Given the description of an element on the screen output the (x, y) to click on. 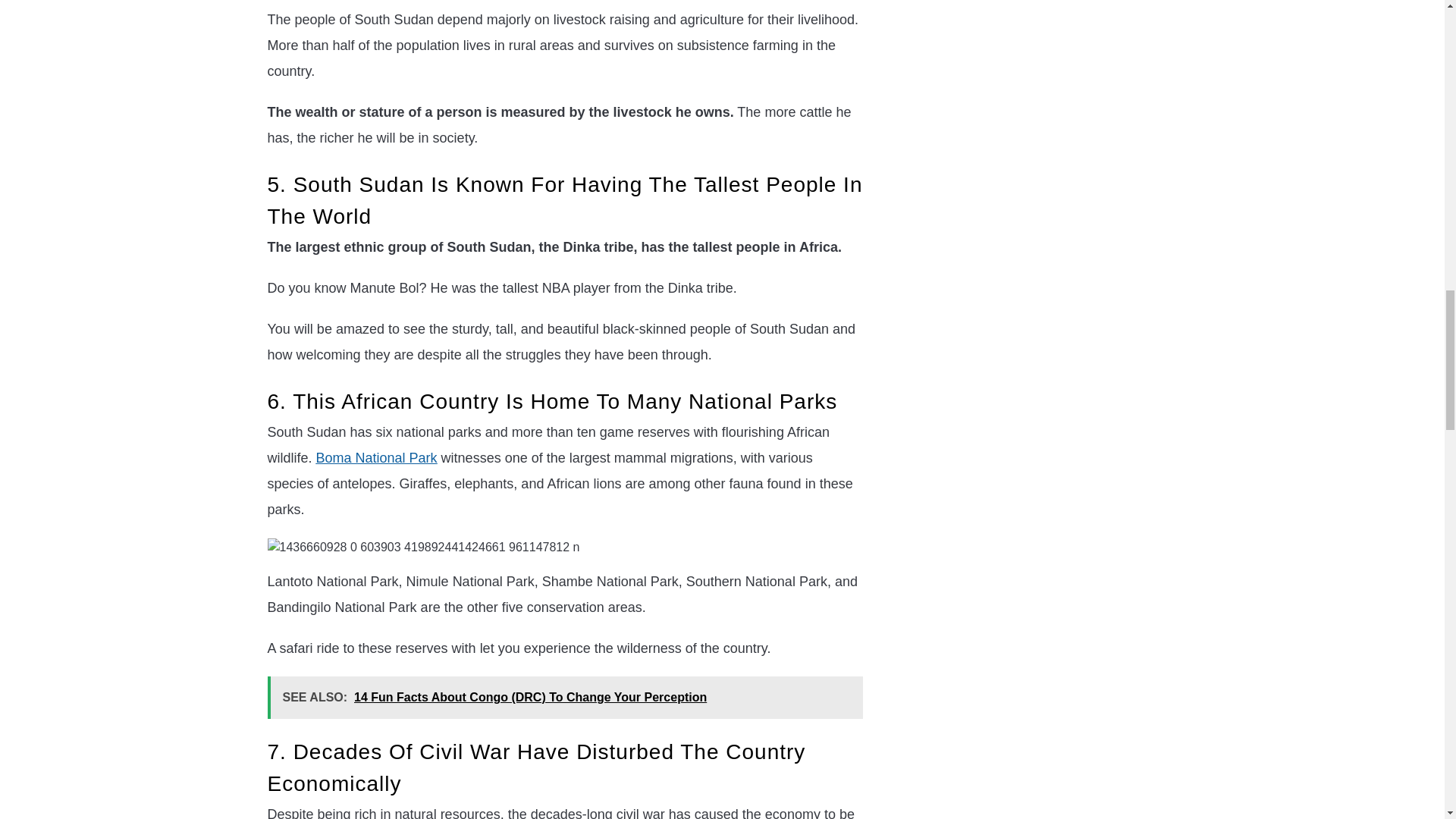
Boma National Park (376, 458)
South Sudan: 12 Surprising Facts You May Not Know 3 (422, 547)
